Given the description of an element on the screen output the (x, y) to click on. 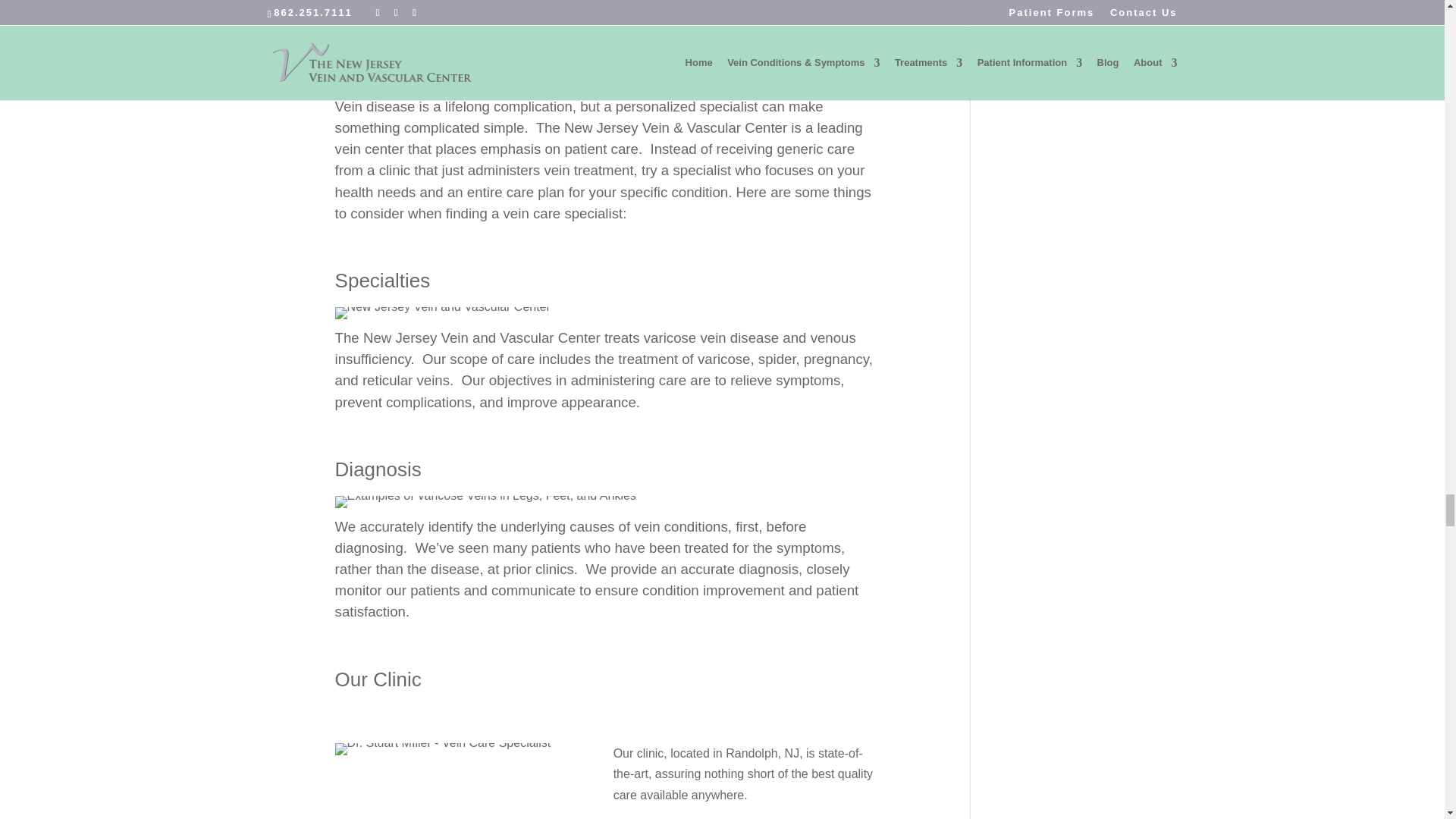
Getting an Accurate Diagnosis of Vein Conditions (485, 501)
